Given the description of an element on the screen output the (x, y) to click on. 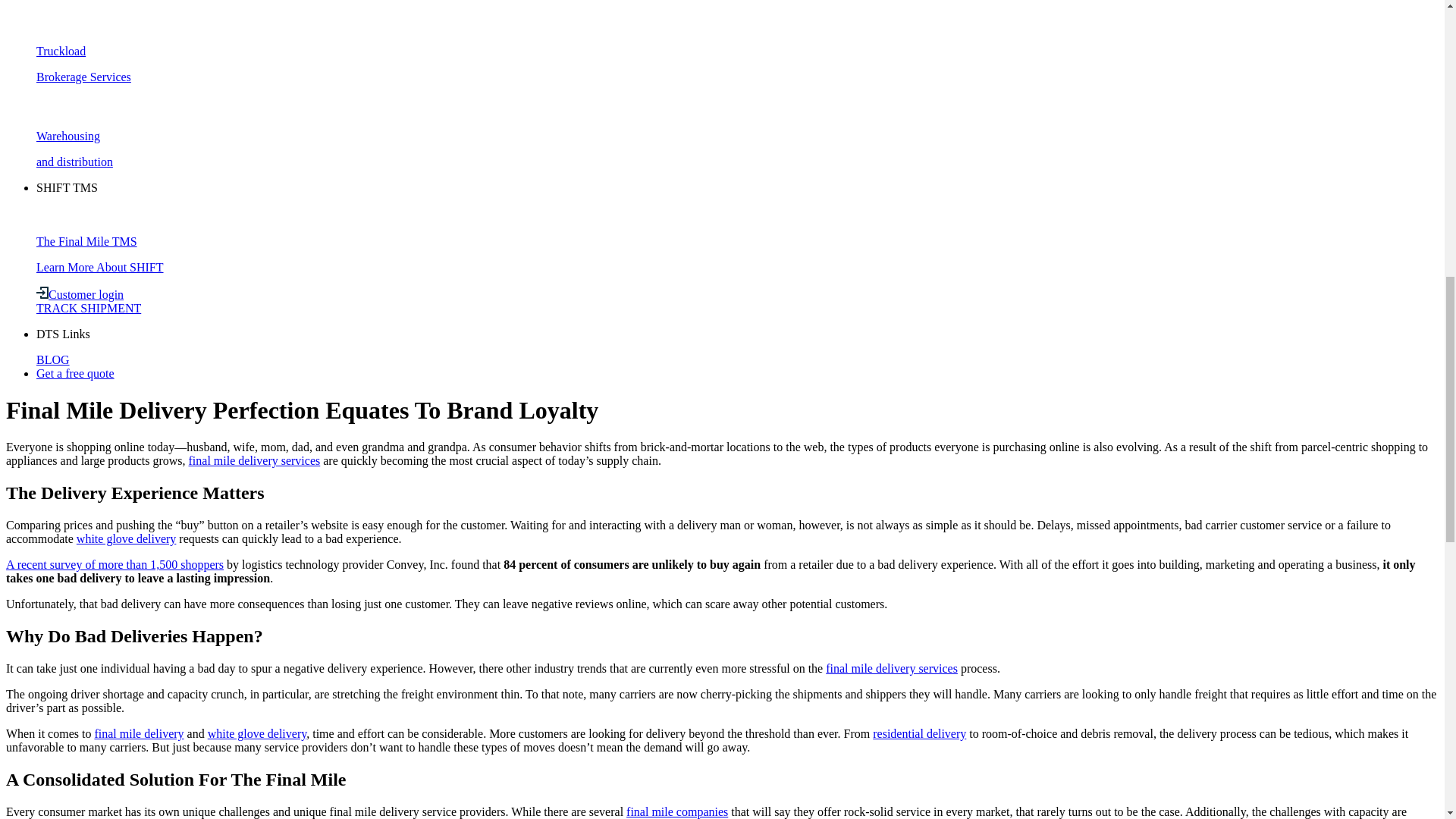
Get a free quote (75, 373)
BLOG (52, 359)
A recent survey of more than 1,500 shoppers (114, 563)
residential delivery services (919, 733)
white glove delivery (256, 733)
Customer login (79, 294)
residential delivery (919, 733)
final mile companies (677, 811)
final mile delivery services (254, 460)
delivery services to last mile customers (891, 667)
final mile delivery (138, 733)
final mile delivery services (891, 667)
final mile delivery services (254, 460)
